Given the description of an element on the screen output the (x, y) to click on. 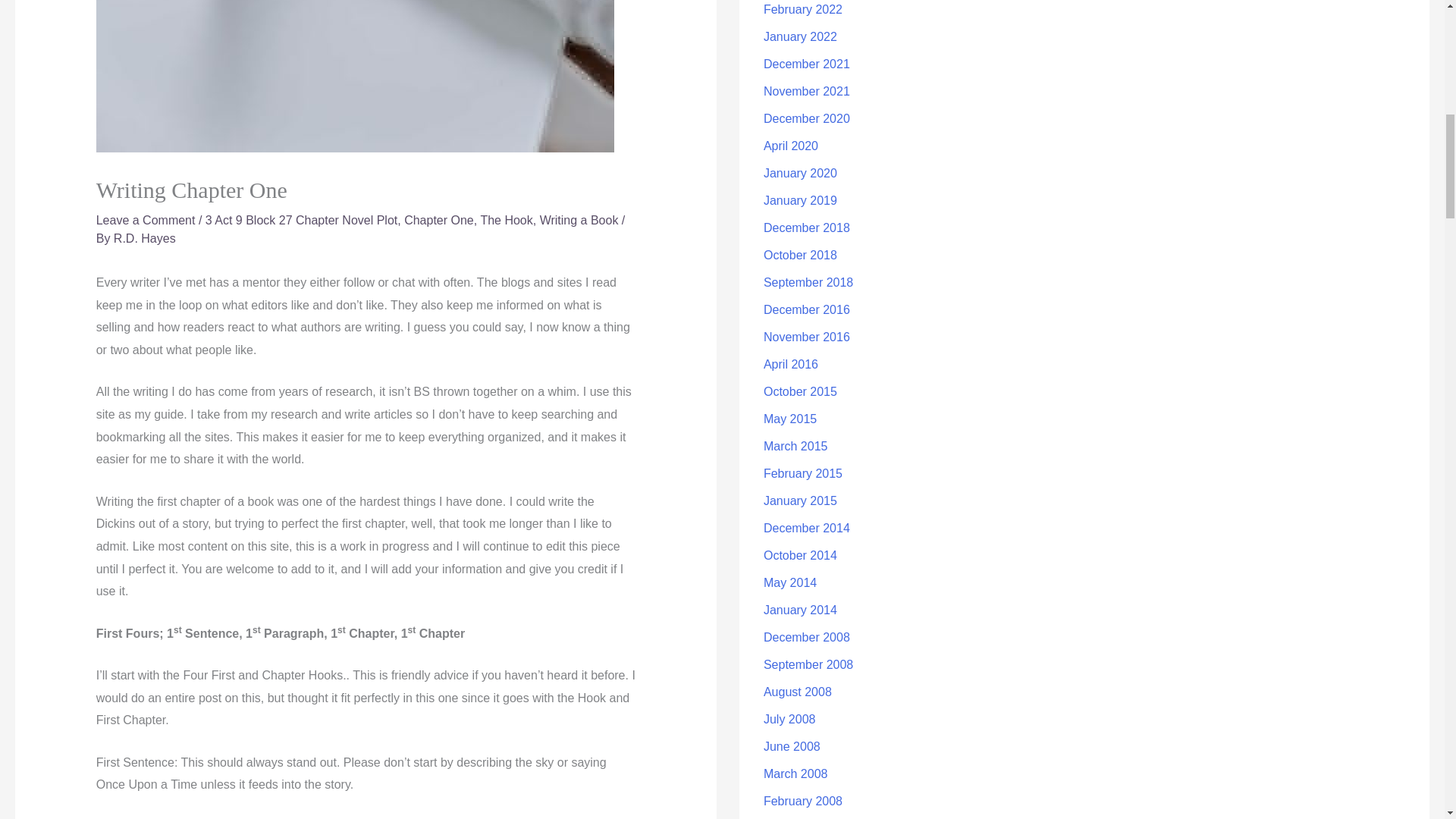
Leave a Comment (145, 219)
January 2022 (799, 36)
View all posts by R.D. Hayes (144, 237)
The Hook (506, 219)
3 Act 9 Block 27 Chapter Novel Plot (301, 219)
R.D. Hayes (144, 237)
Writing a Book (579, 219)
Chapter One (439, 219)
February 2022 (802, 9)
